Given the description of an element on the screen output the (x, y) to click on. 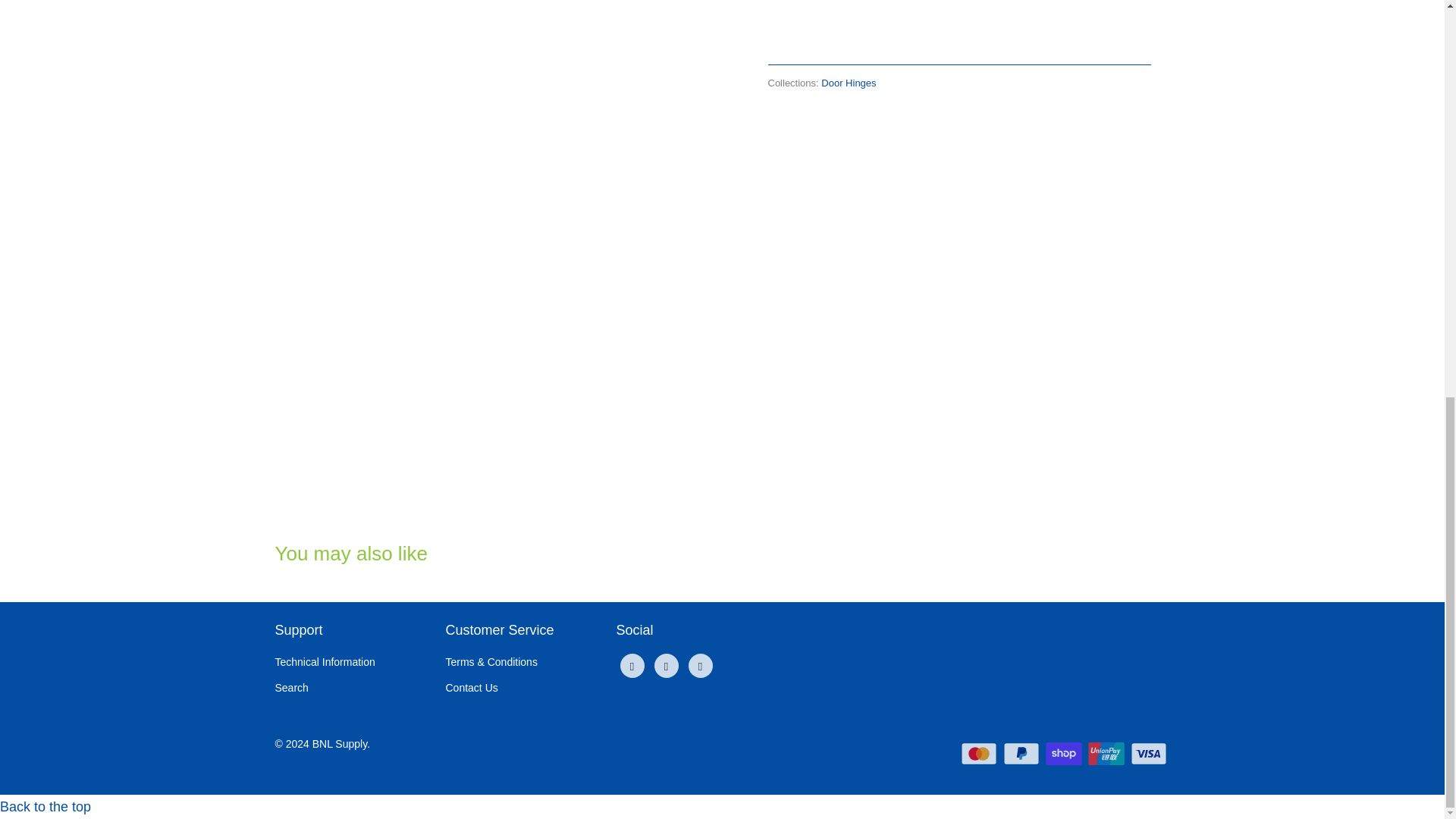
Email BNL Supply (700, 665)
BNL Supply on LinkedIn (665, 665)
Mastercard (980, 753)
PayPal (1022, 753)
Visa (1149, 753)
Door Hinges (848, 82)
Shop Pay (1064, 753)
BNL Supply on Facebook (632, 665)
Union Pay (1106, 753)
